Given the description of an element on the screen output the (x, y) to click on. 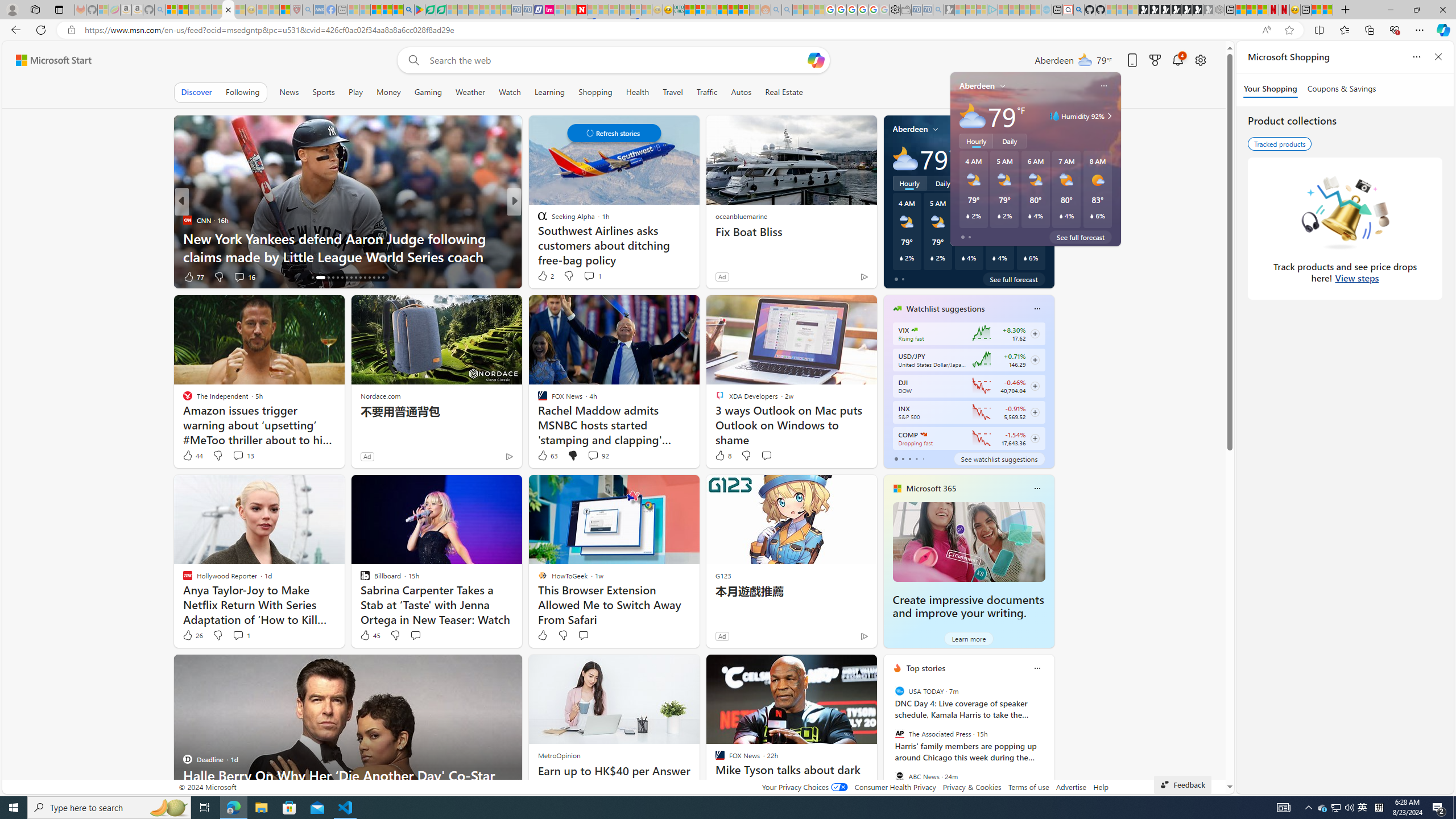
View comments 4 Comment (596, 276)
The Conversation (537, 238)
Personalize your feed" (1019, 92)
ABC News (898, 775)
AutomationID: tab-18 (324, 277)
View comments 13 Comment (237, 455)
